Given the description of an element on the screen output the (x, y) to click on. 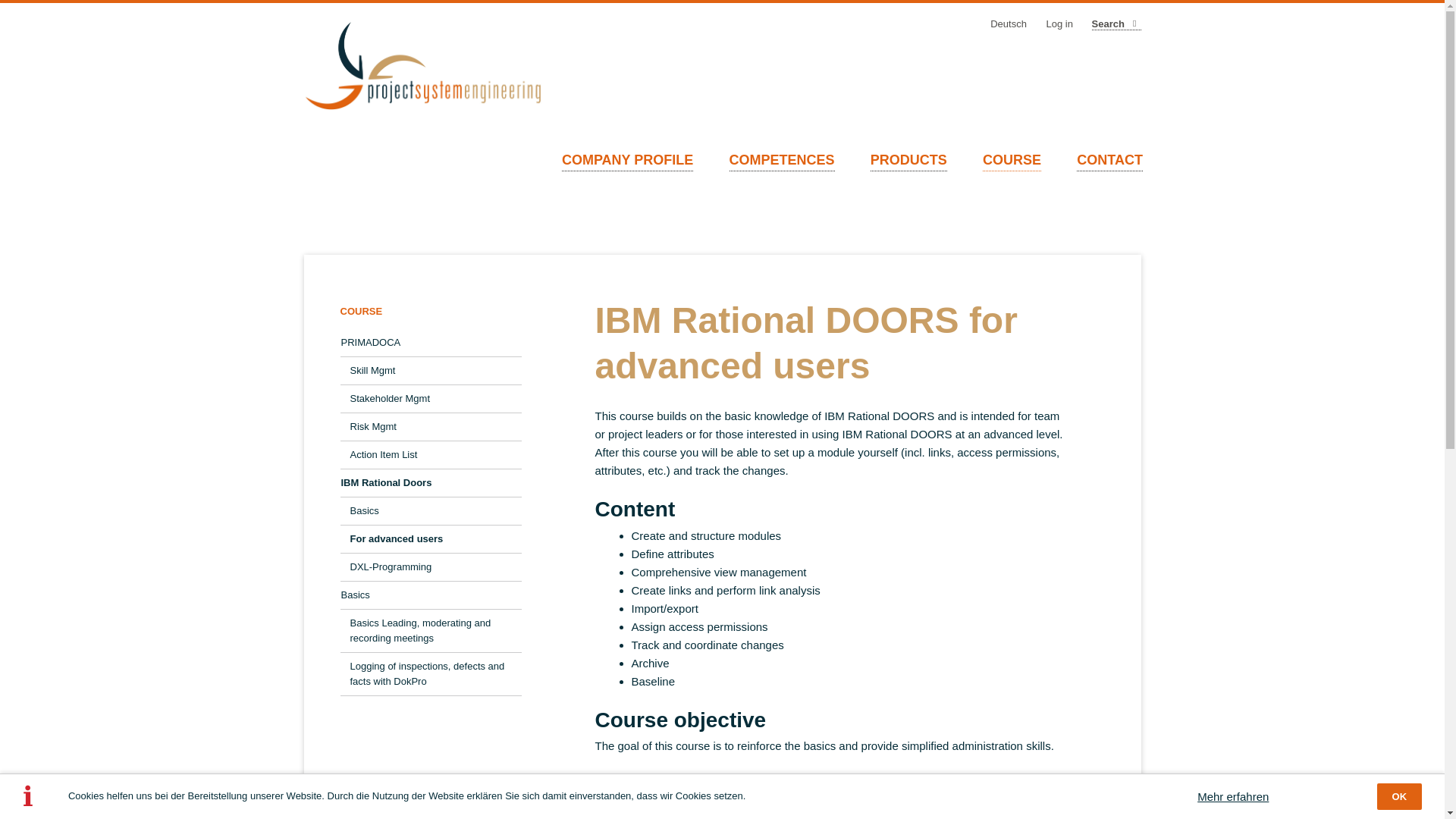
Mehr erfahren (1232, 796)
PRODUCTS (908, 160)
PRODUCTS (908, 160)
COMPETENCES (781, 160)
OK (1399, 795)
COURSE (1011, 160)
COMPETENCES (781, 160)
COMPANY PROFILE (627, 160)
COMPANY PROFILE (627, 160)
